Given the description of an element on the screen output the (x, y) to click on. 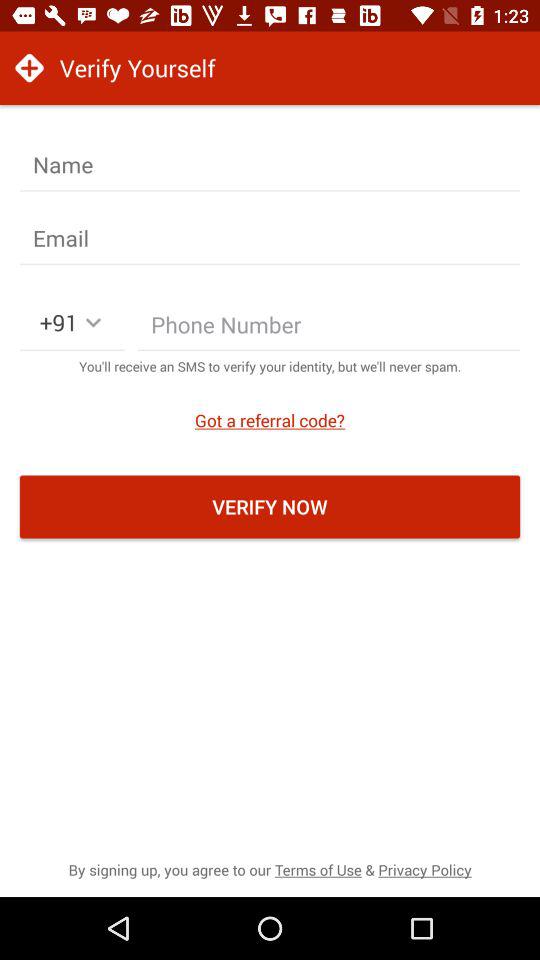
enter email address (269, 238)
